Given the description of an element on the screen output the (x, y) to click on. 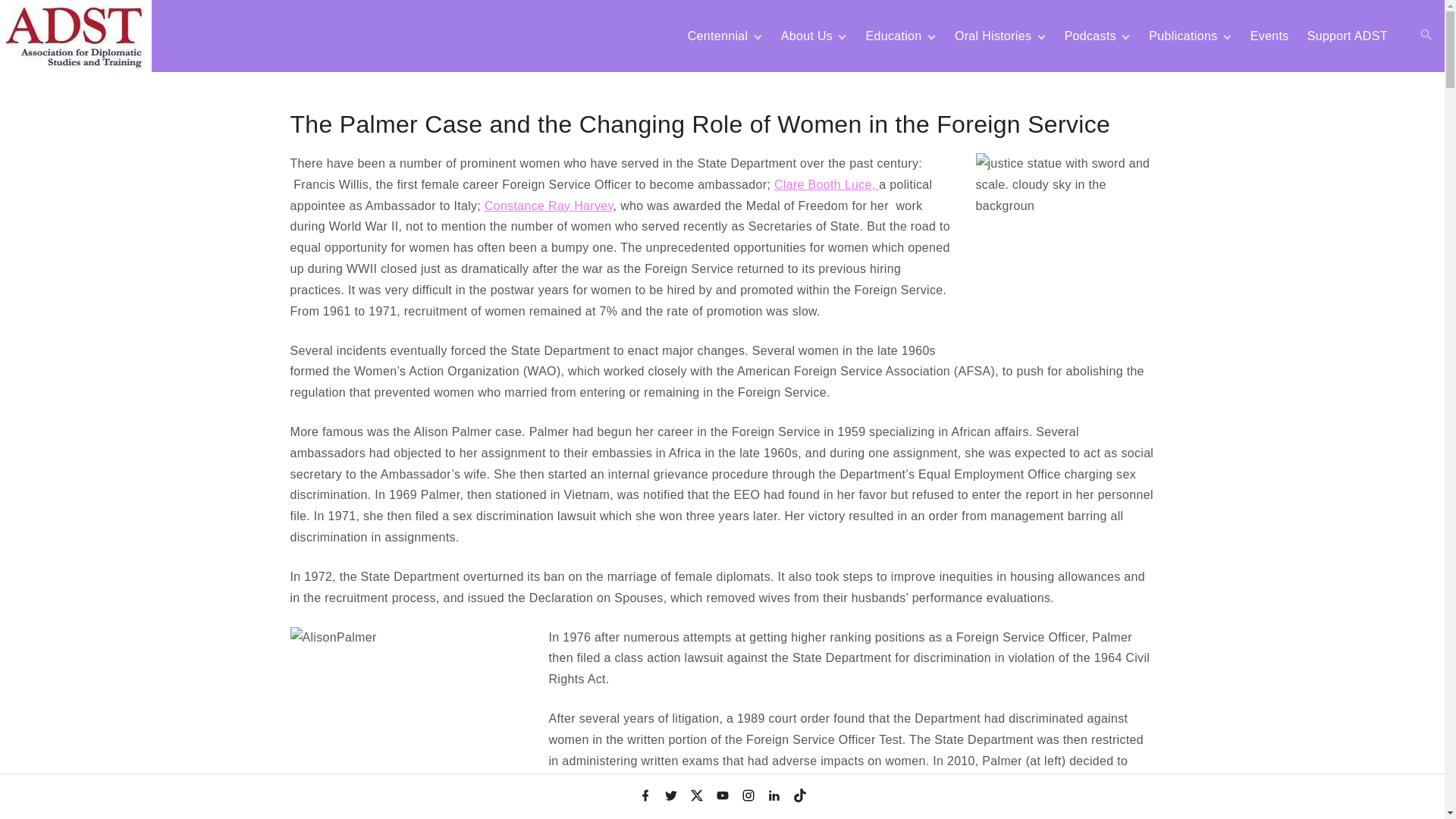
About Us (807, 36)
Oral Histories (993, 36)
Publications (1183, 36)
Podcasts (1091, 36)
Education (893, 36)
Centennial (718, 36)
